Given the description of an element on the screen output the (x, y) to click on. 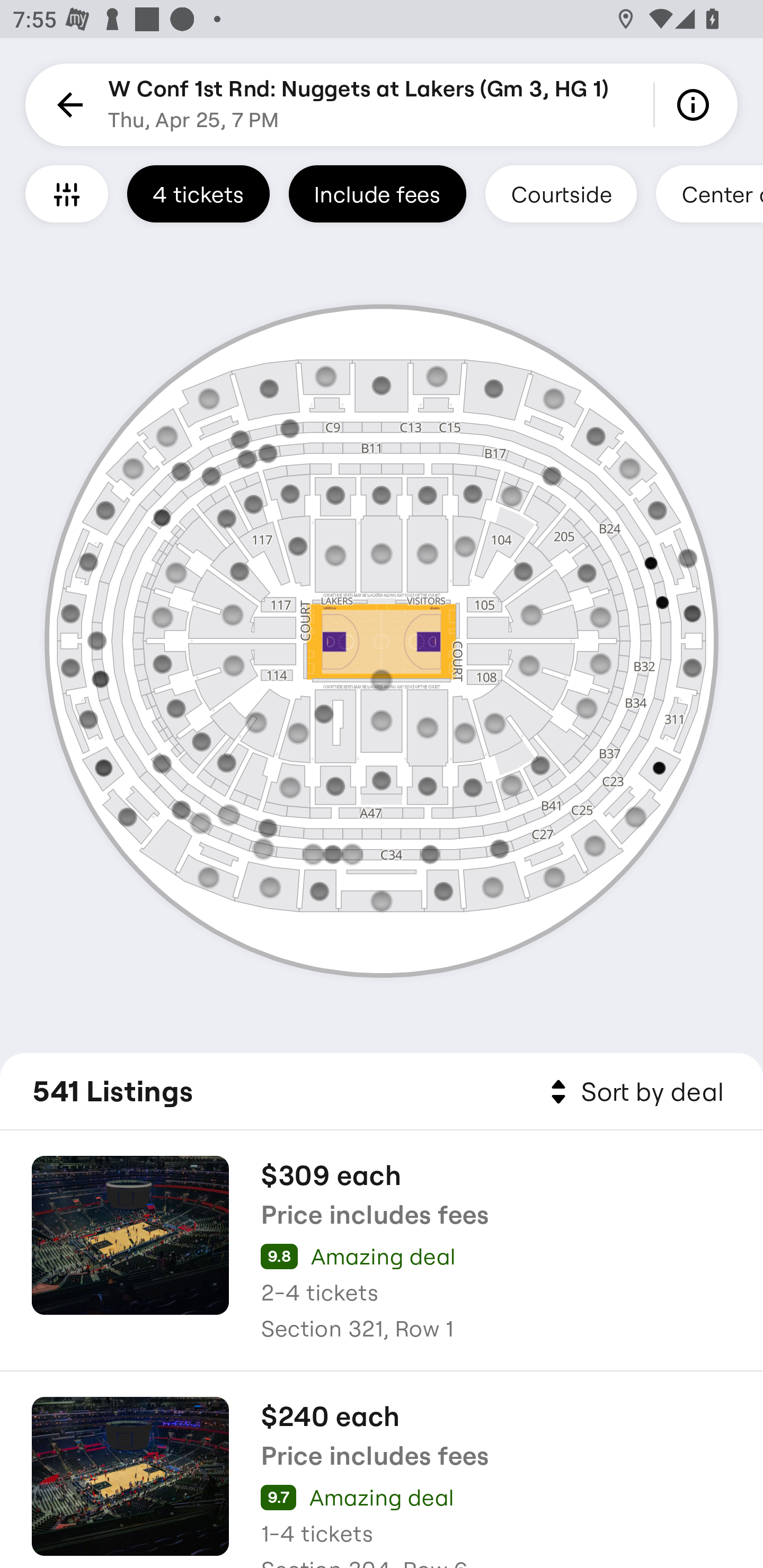
Back (66, 104)
Info (695, 104)
Filters and Accessible Seating (66, 193)
4 tickets (198, 193)
Include fees (377, 193)
Courtside (561, 193)
Center court (709, 193)
Sort by deal (633, 1091)
